Given the description of an element on the screen output the (x, y) to click on. 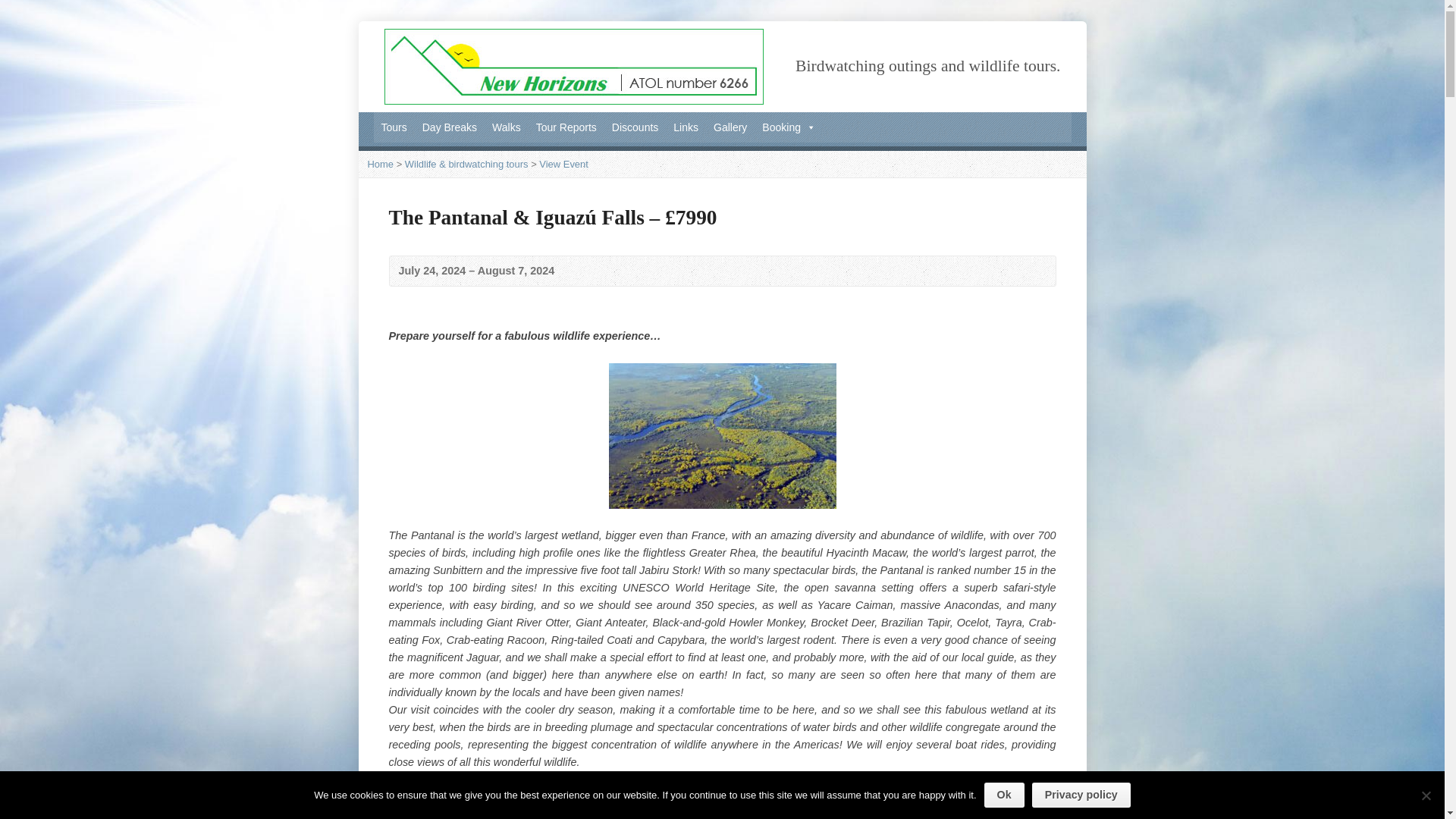
Tour Reports (566, 127)
Gallery (730, 127)
Ok (1004, 794)
No (1425, 794)
Tours (392, 127)
Links (685, 127)
Home (379, 163)
Walks (506, 127)
Day Breaks (449, 127)
View Event (563, 163)
Privacy policy (1081, 794)
Booking (789, 127)
Discounts (634, 127)
